Given the description of an element on the screen output the (x, y) to click on. 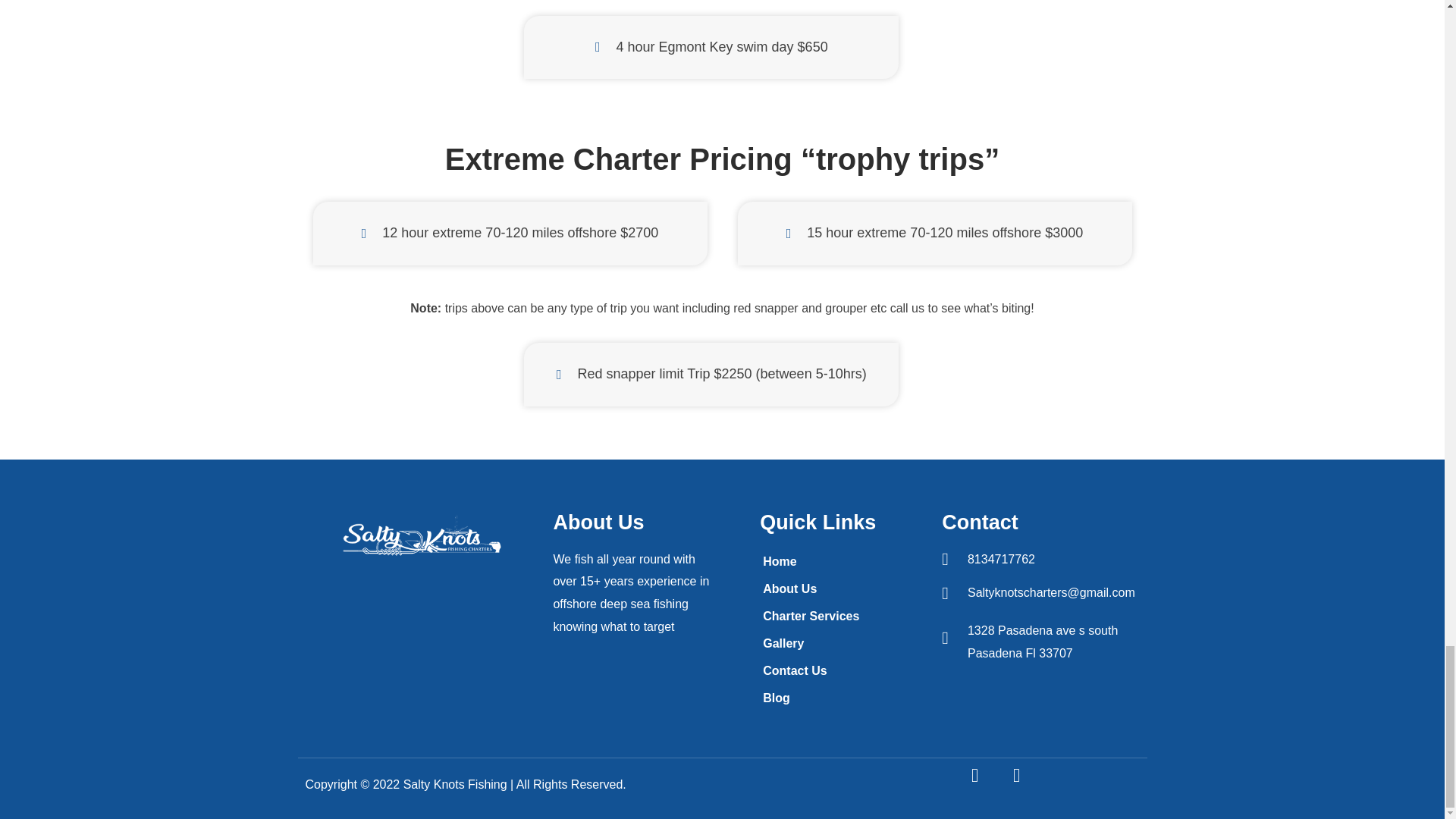
Home (837, 561)
About Us (837, 588)
